Given the description of an element on the screen output the (x, y) to click on. 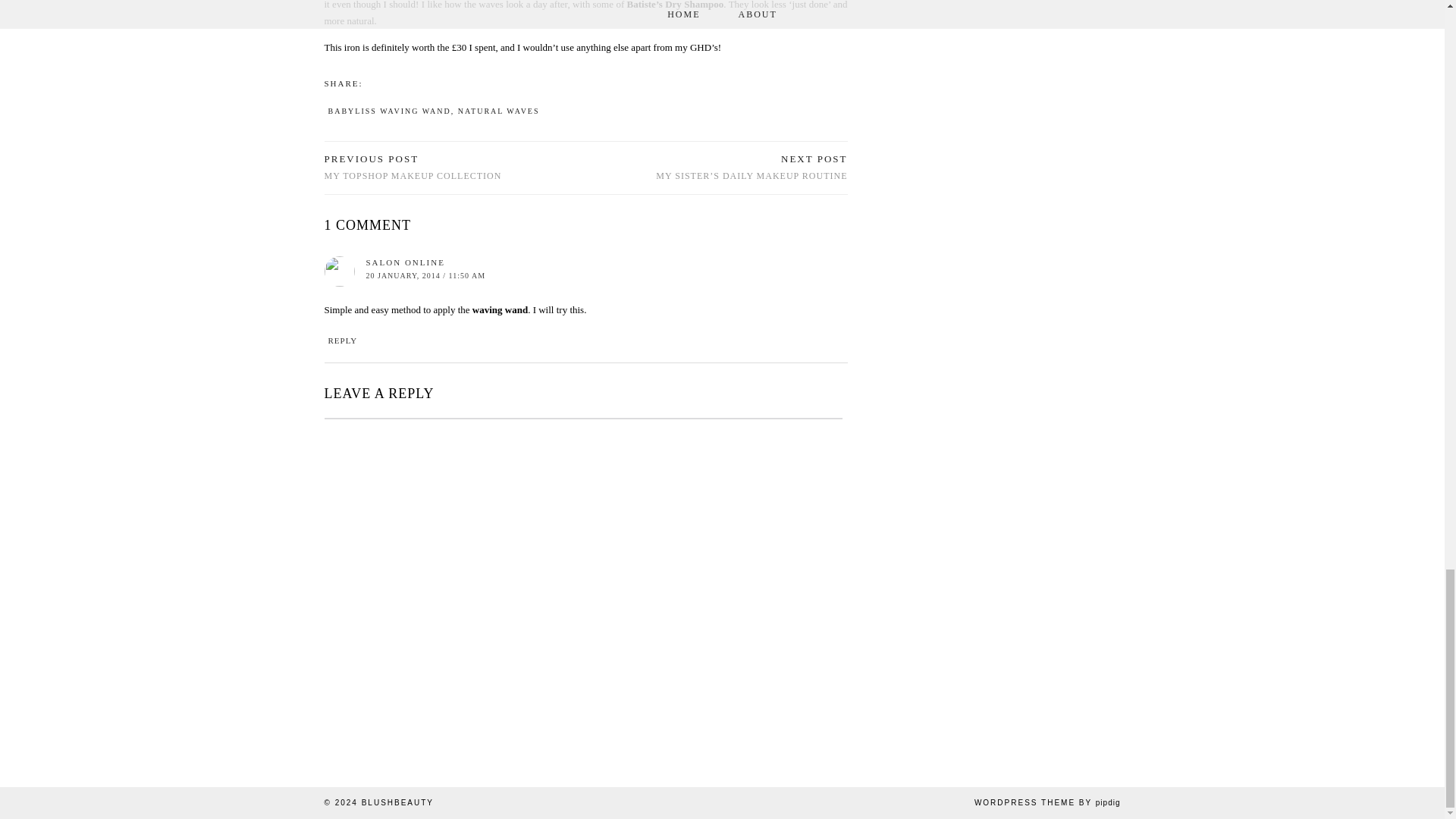
BABYLISS WAVING WAND (388, 111)
waving wand (499, 309)
NATURAL WAVES (499, 111)
REPLY (413, 167)
